Given the description of an element on the screen output the (x, y) to click on. 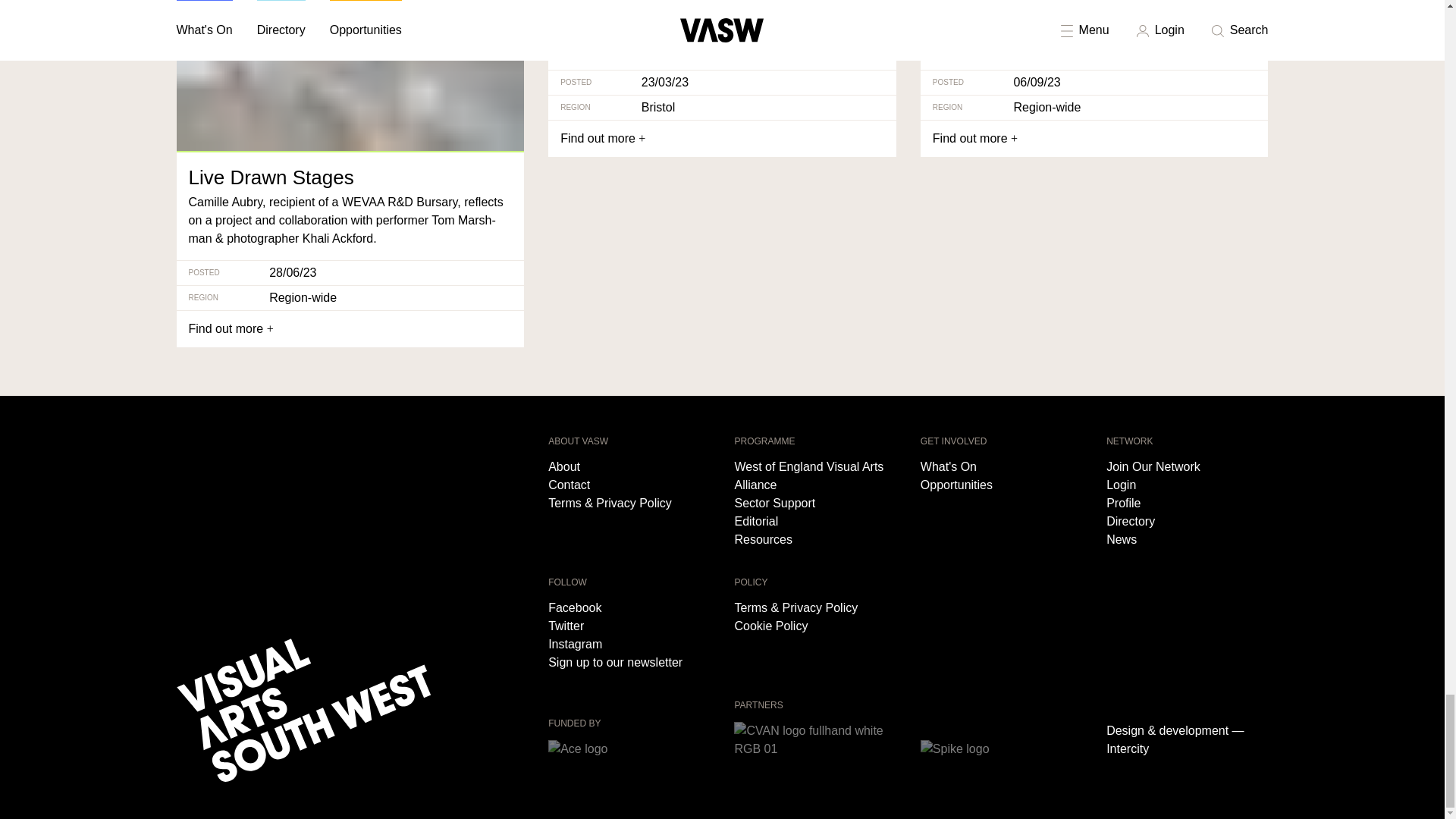
Sector Support (814, 503)
Editorial (814, 521)
What's On (1000, 466)
Opportunities (1000, 484)
Contact (629, 484)
Resources (814, 539)
West of England Visual Arts Alliance (814, 475)
About (629, 466)
